Given the description of an element on the screen output the (x, y) to click on. 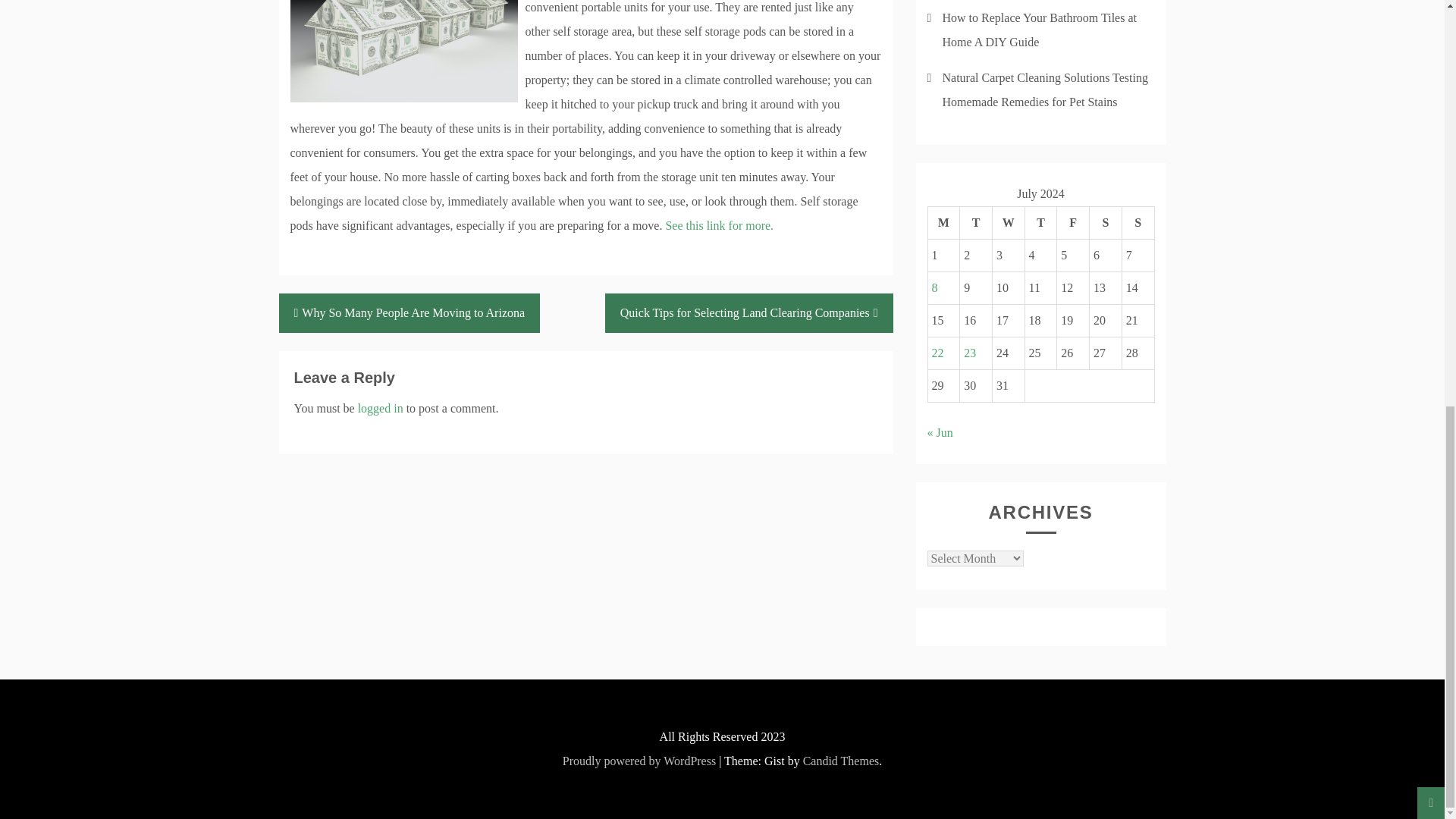
Proudly powered by WordPress (639, 760)
How to Replace Your Bathroom Tiles at Home A DIY Guide (1038, 29)
Why So Many People Are Moving to Arizona (409, 312)
Friday (1073, 223)
Wednesday (1008, 223)
Tuesday (975, 223)
Thursday (1041, 223)
See this link for more. (719, 225)
23 (969, 352)
Saturday (1105, 223)
Candid Themes (841, 760)
Cool stuff (719, 225)
logged in (380, 408)
Sunday (1137, 223)
